Given the description of an element on the screen output the (x, y) to click on. 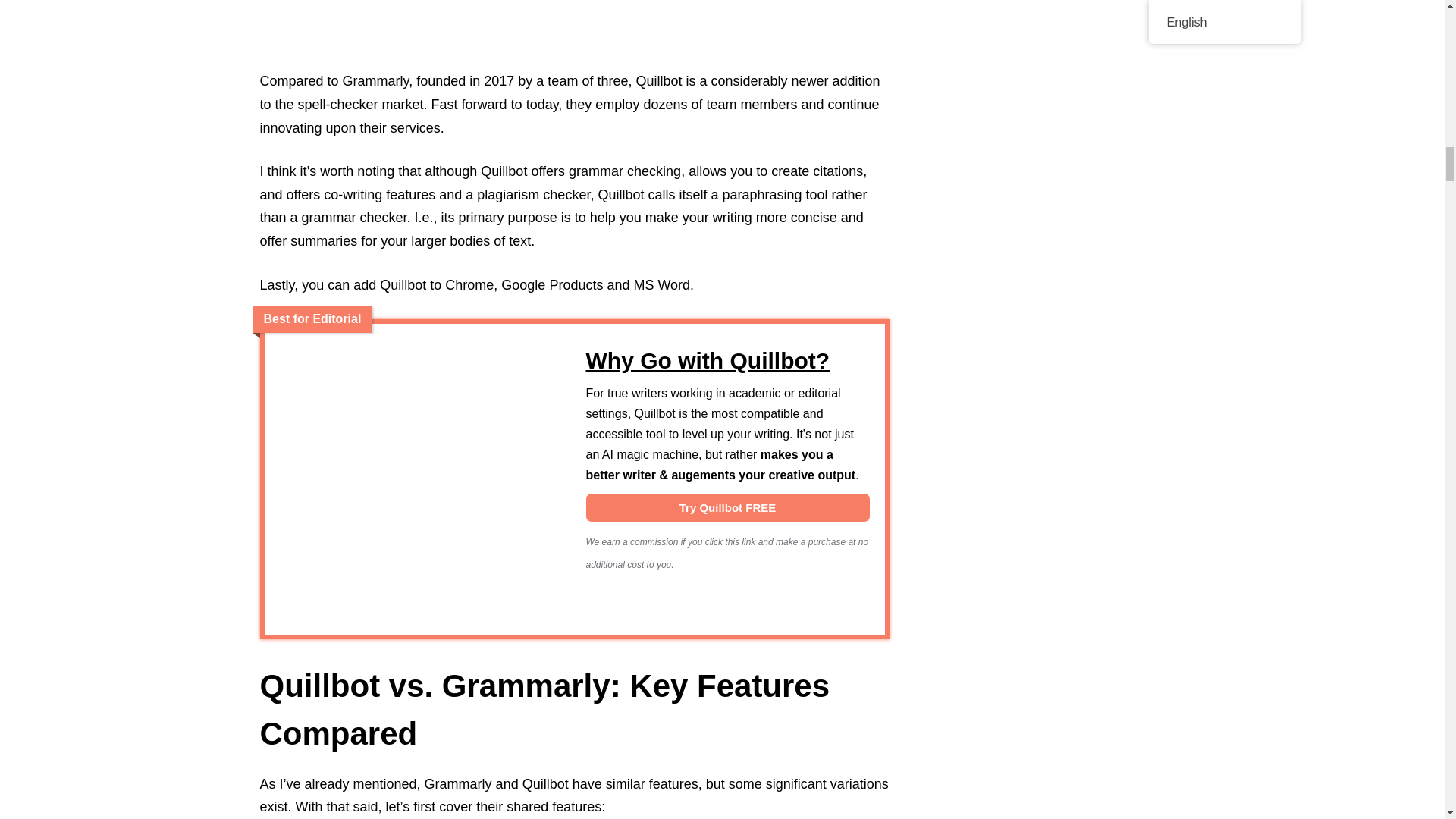
Why Go with Quillbot? (727, 507)
Why Go with Quillbot? (727, 360)
Why Go with Quillbot? (420, 479)
